Given the description of an element on the screen output the (x, y) to click on. 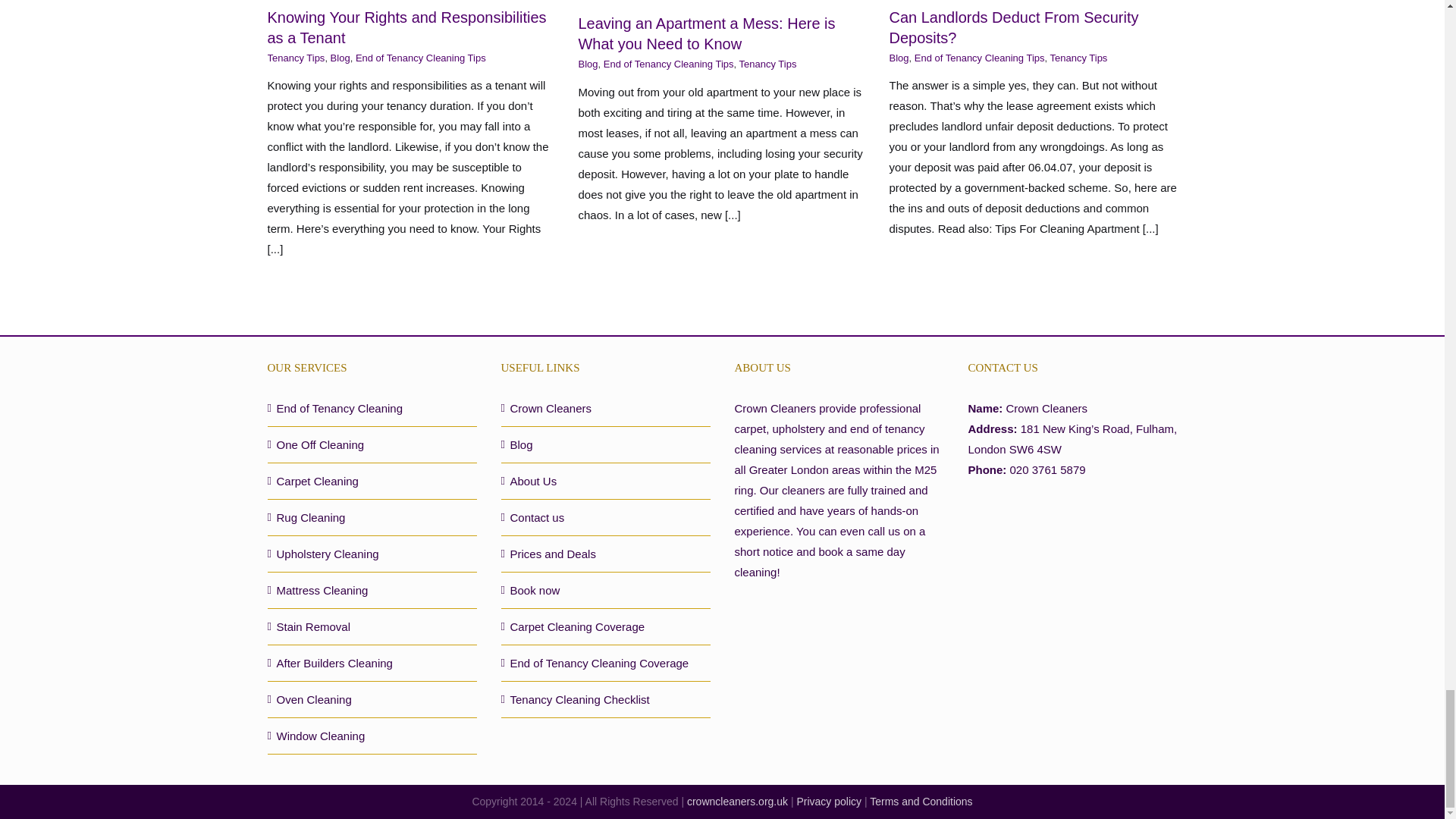
DMCA.com Protection Status (1072, 527)
